Given the description of an element on the screen output the (x, y) to click on. 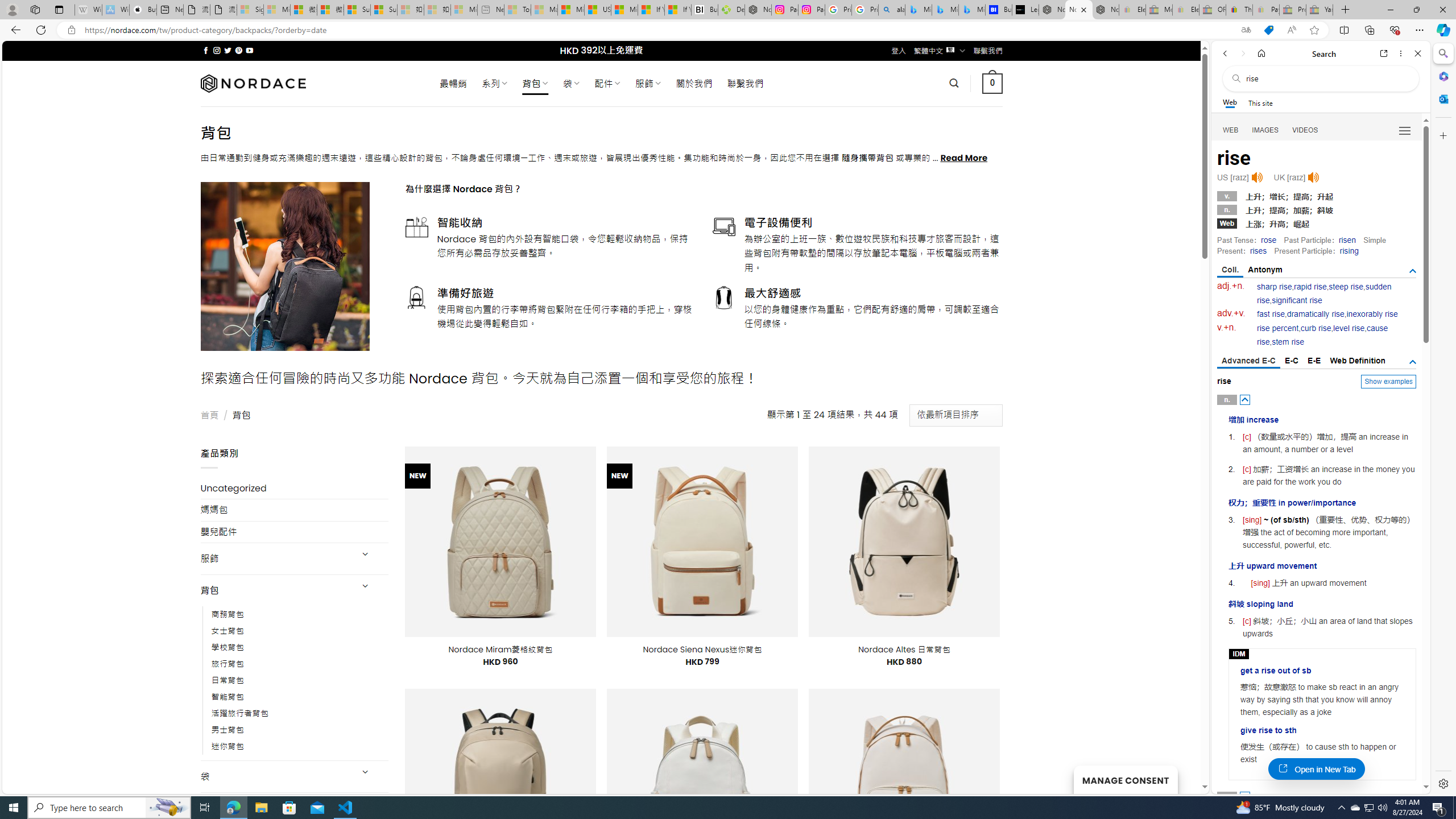
Forward (1242, 53)
Search Filter, WEB (1231, 129)
MANAGE CONSENT (1125, 779)
